Given the description of an element on the screen output the (x, y) to click on. 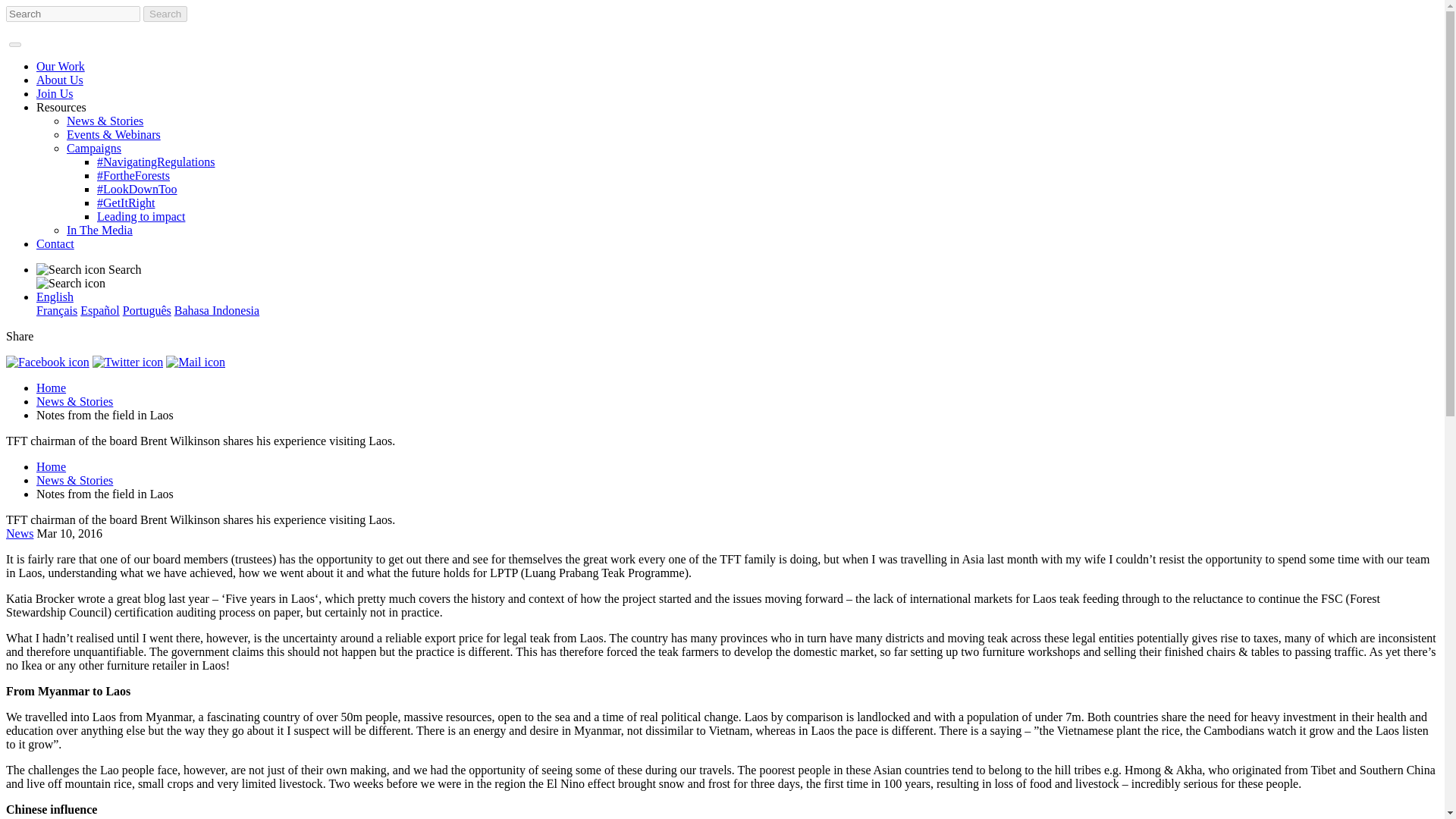
Search (164, 13)
Contact (55, 243)
Resources (60, 106)
Bahasa Indonesia (216, 309)
Home (50, 387)
Join Us (54, 92)
About Us (59, 79)
Search (737, 276)
Leading to impact (140, 215)
English (55, 296)
